Given the description of an element on the screen output the (x, y) to click on. 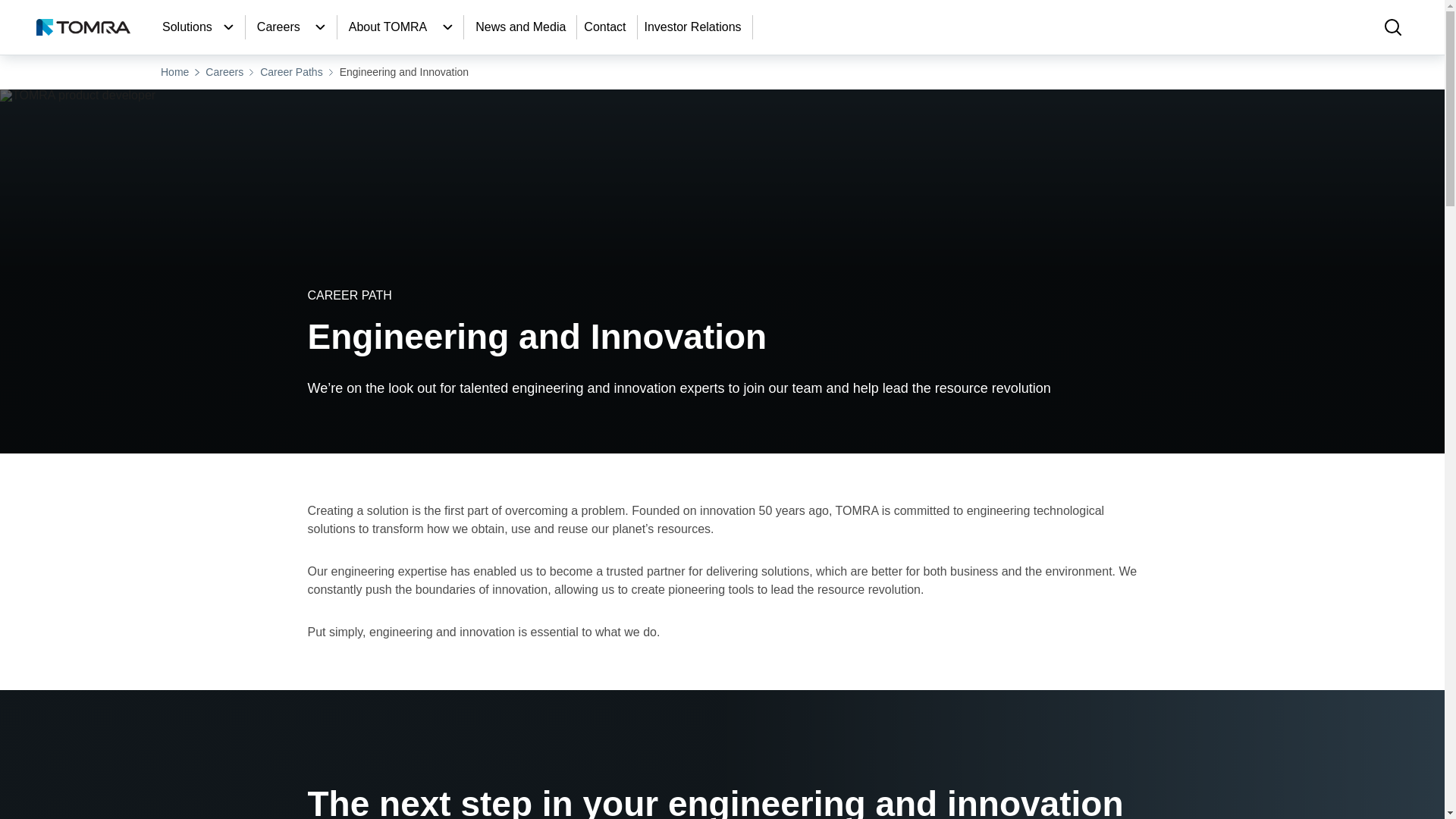
Tomra.com homepage (83, 27)
Solutions (229, 27)
